Given the description of an element on the screen output the (x, y) to click on. 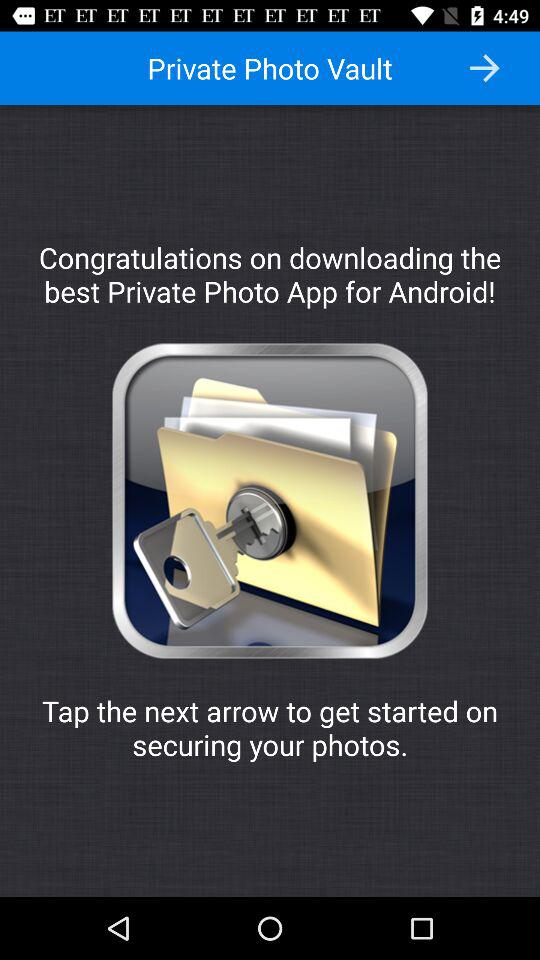
press icon to the right of the private photo vault icon (484, 68)
